Given the description of an element on the screen output the (x, y) to click on. 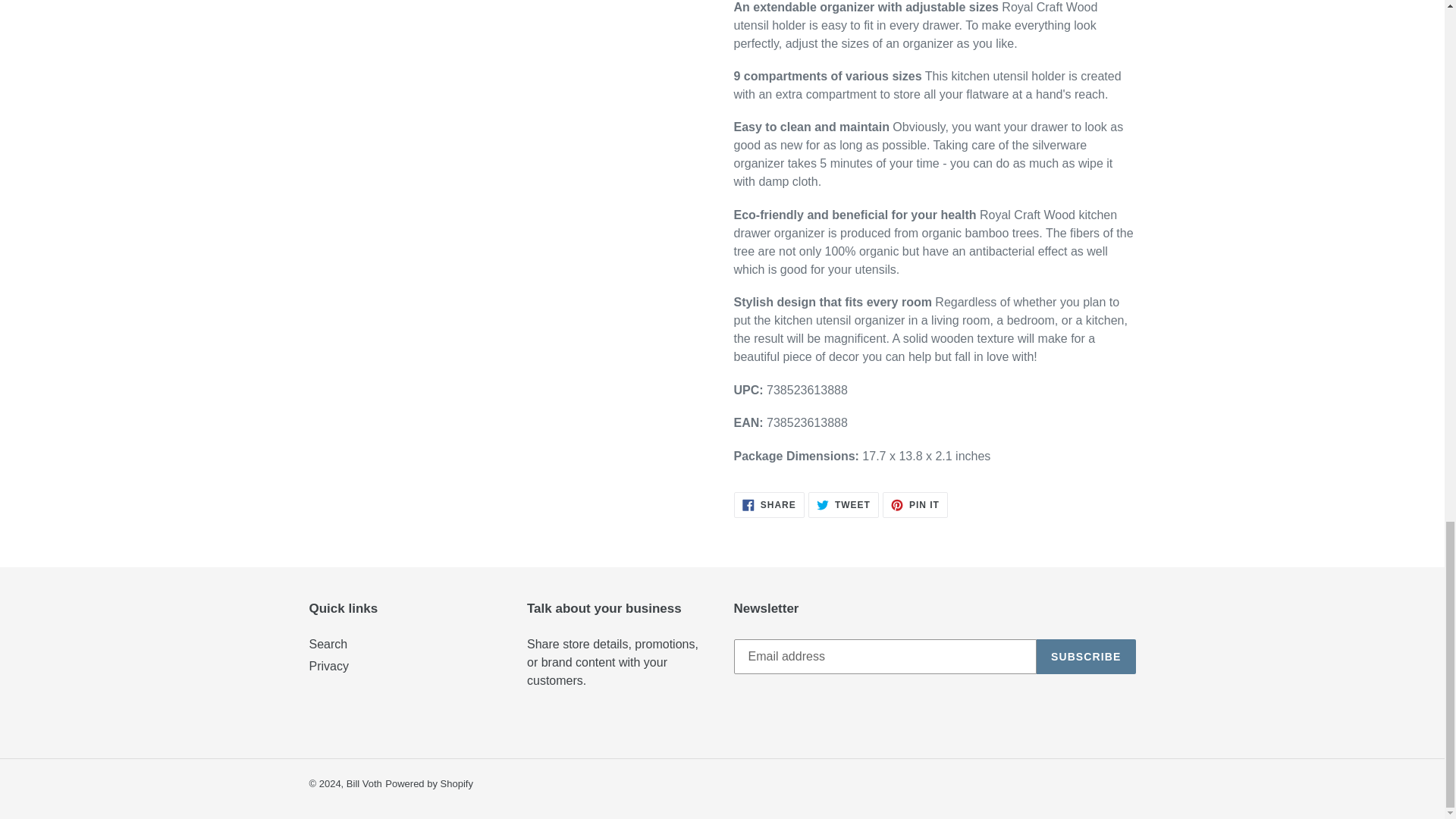
Powered by Shopify (429, 783)
Bill Voth (769, 504)
Privacy (363, 783)
Search (328, 666)
SUBSCRIBE (327, 644)
